Given the description of an element on the screen output the (x, y) to click on. 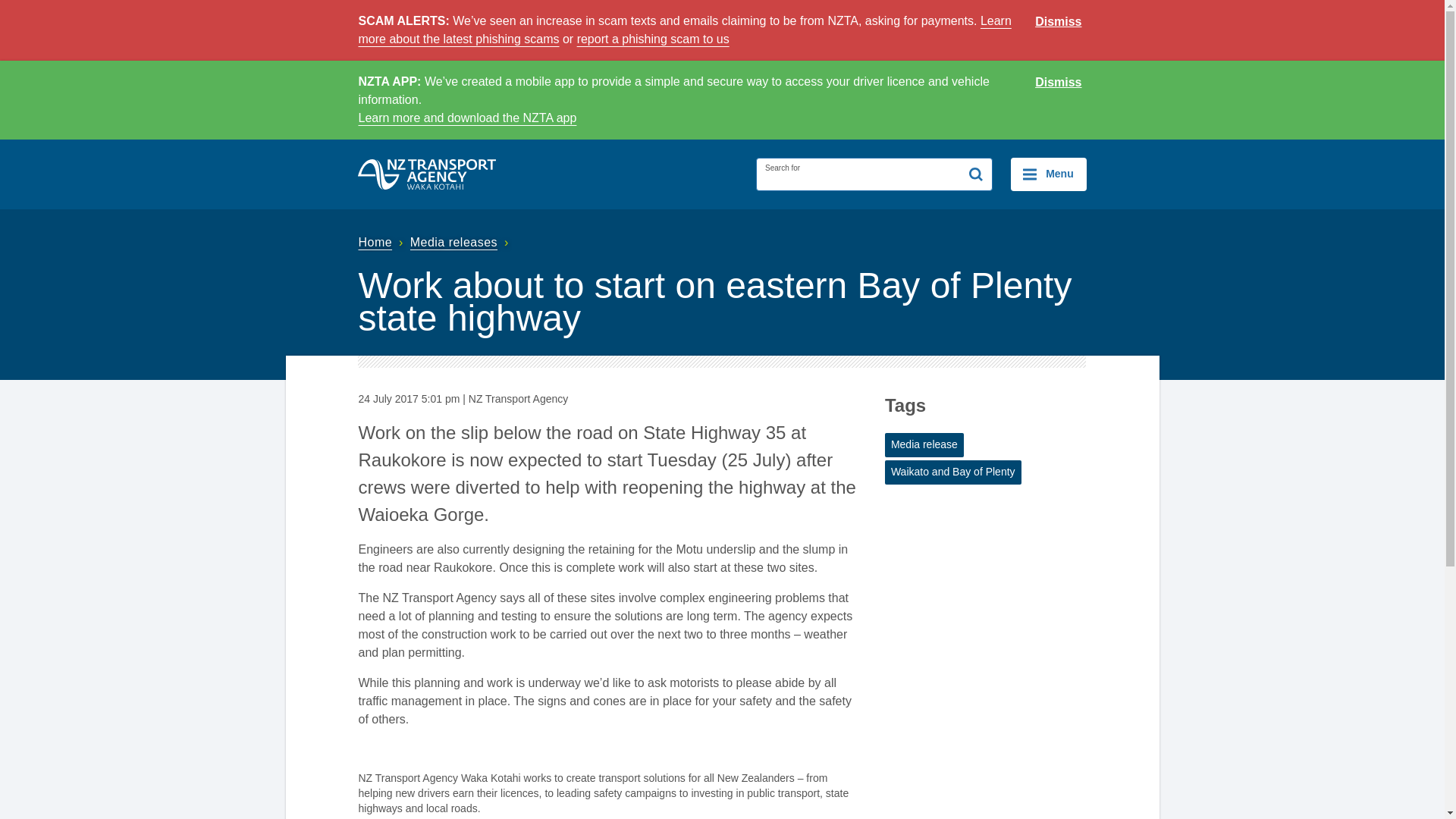
NZ Transport Agency Waka Kotahi (427, 173)
Home (382, 241)
Learn more and download the NZTA app (467, 117)
report a phishing scam to us (652, 38)
Dismiss (1058, 82)
View all posts tagged 'Waikato and Bay of Plenty' (953, 472)
Menu (1048, 174)
Learn more about the latest phishing scams (684, 29)
View all posts tagged 'Media release' (924, 445)
Dismiss (1058, 21)
